Given the description of an element on the screen output the (x, y) to click on. 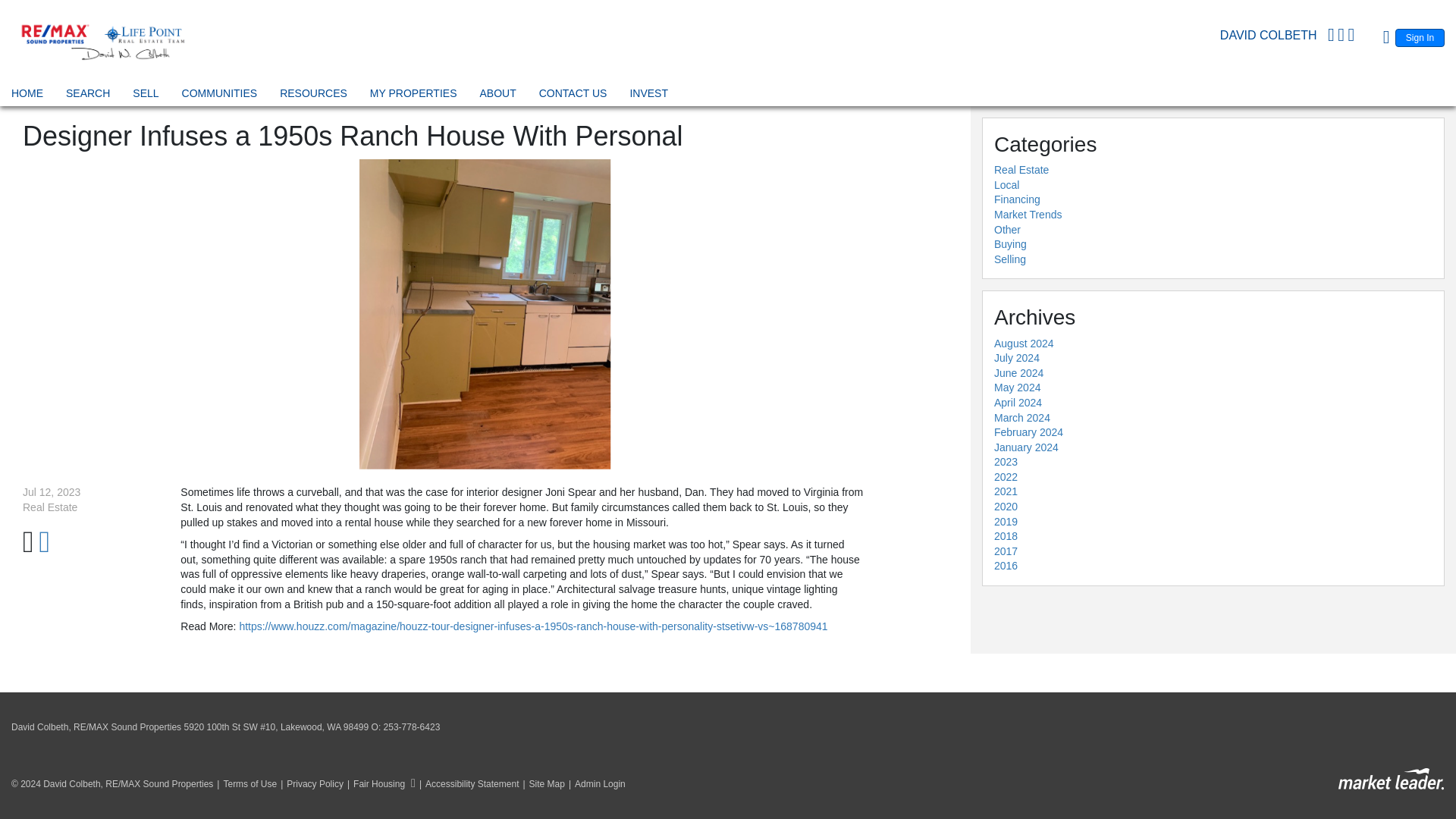
HOME (26, 95)
Sign In (1419, 37)
August 2024 (1024, 343)
Financing (1017, 199)
Local (1006, 184)
Buying (1010, 244)
SELL (145, 95)
INVEST (648, 95)
Market Trends (1027, 214)
July 2024 (1016, 357)
Selling (1010, 259)
RESOURCES (313, 95)
SEARCH (87, 95)
ABOUT (497, 95)
COMMUNITIES (219, 95)
